Given the description of an element on the screen output the (x, y) to click on. 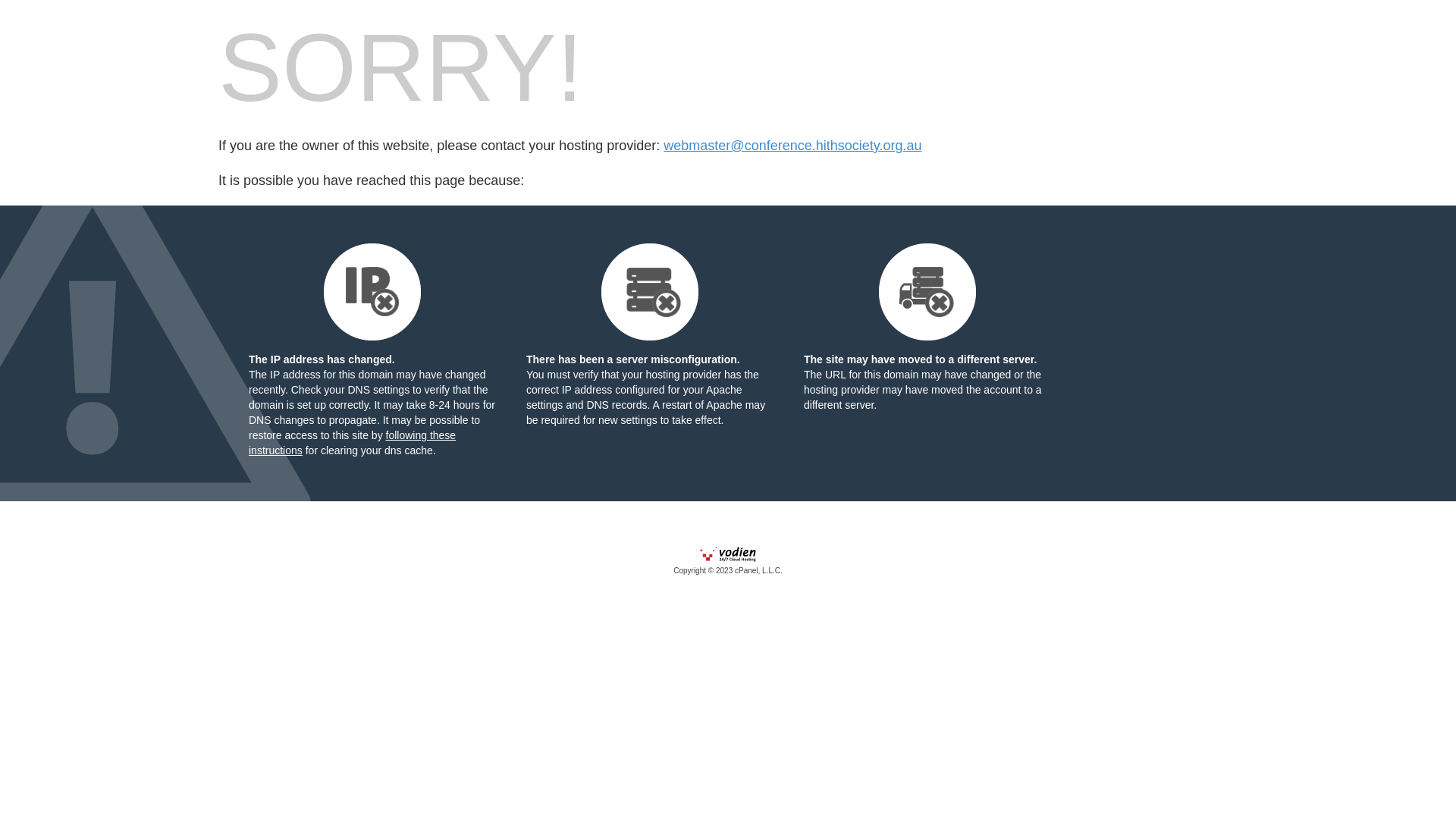
following these instructions Element type: text (351, 442)
webmaster@conference.hithsociety.org.au Element type: text (792, 145)
